Given the description of an element on the screen output the (x, y) to click on. 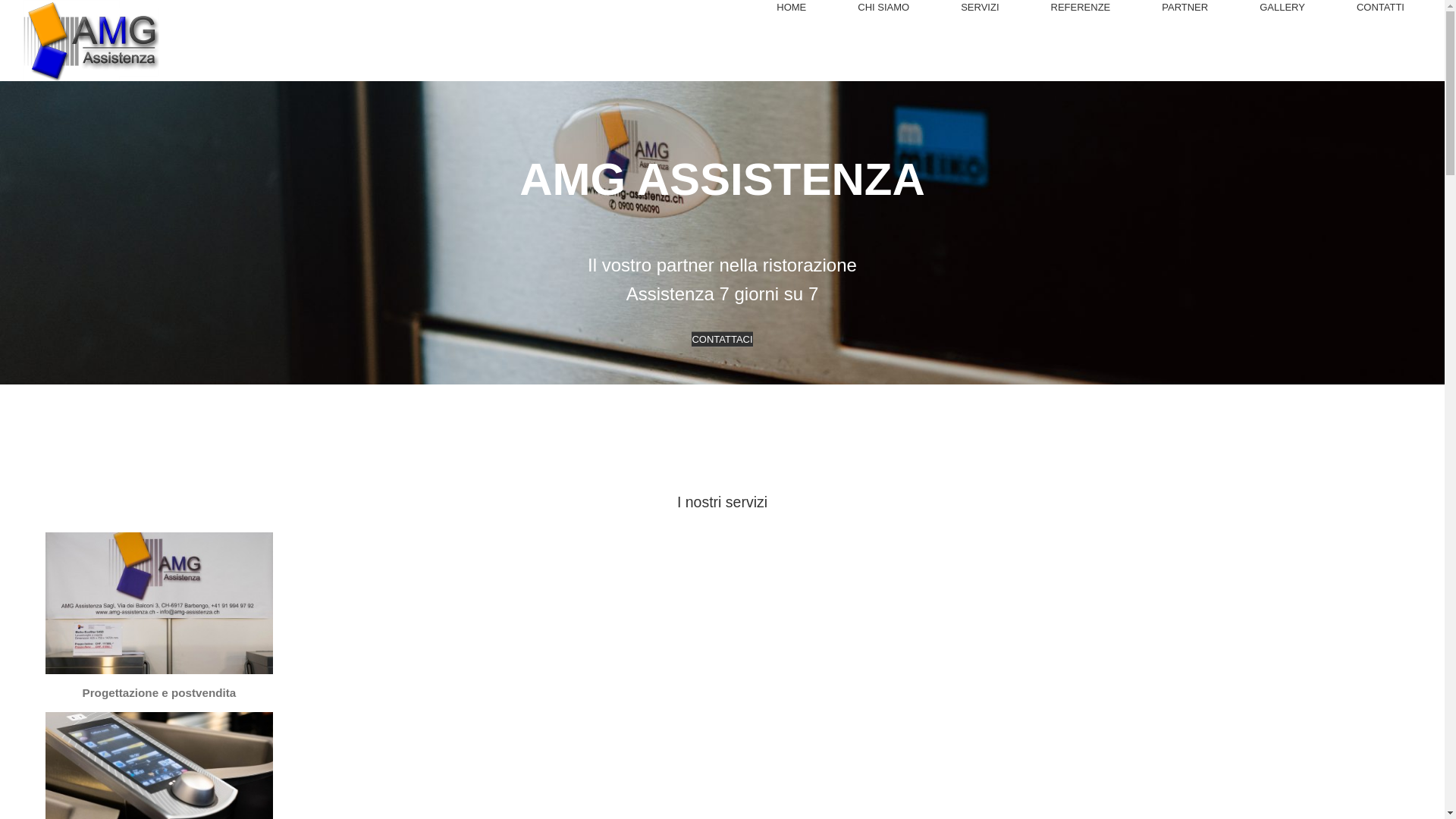
CHI SIAMO Element type: text (891, 7)
PARTNER Element type: text (1193, 7)
CONTATTI Element type: text (1388, 7)
HOME Element type: text (799, 7)
GALLERY Element type: text (1290, 7)
CONTATTACI Element type: text (721, 338)
SERVIZI Element type: text (988, 7)
REFERENZE Element type: text (1089, 7)
